Given the description of an element on the screen output the (x, y) to click on. 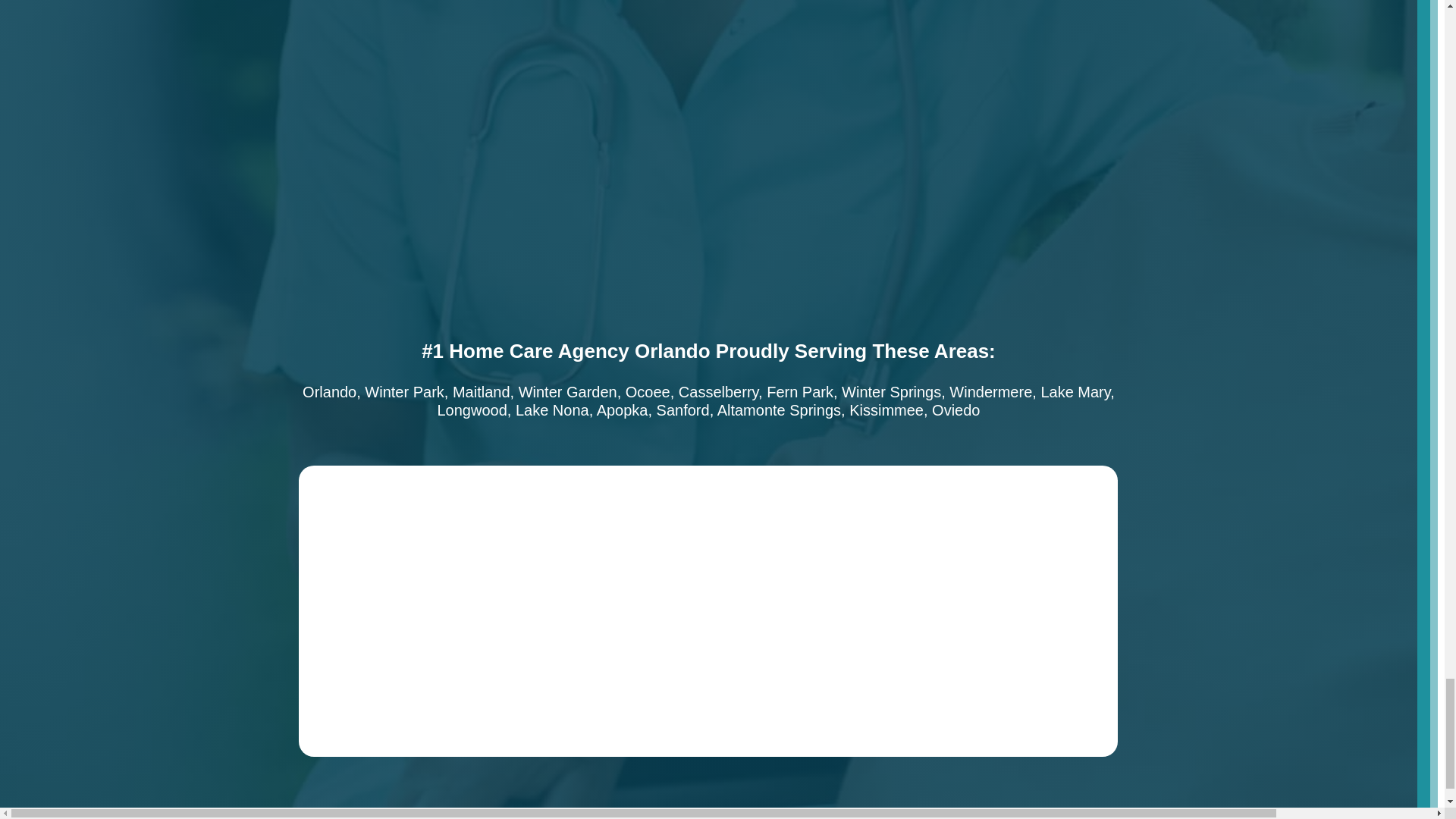
ADRC Logo (956, 537)
BBB-Logo-Horizontal (707, 538)
Screenshot 2024-07-29 164408 (430, 538)
2024 Provider of Choice with year (985, 684)
Screenshot 2024-07-29 164813 (708, 683)
BOHC-resized (431, 683)
